Given the description of an element on the screen output the (x, y) to click on. 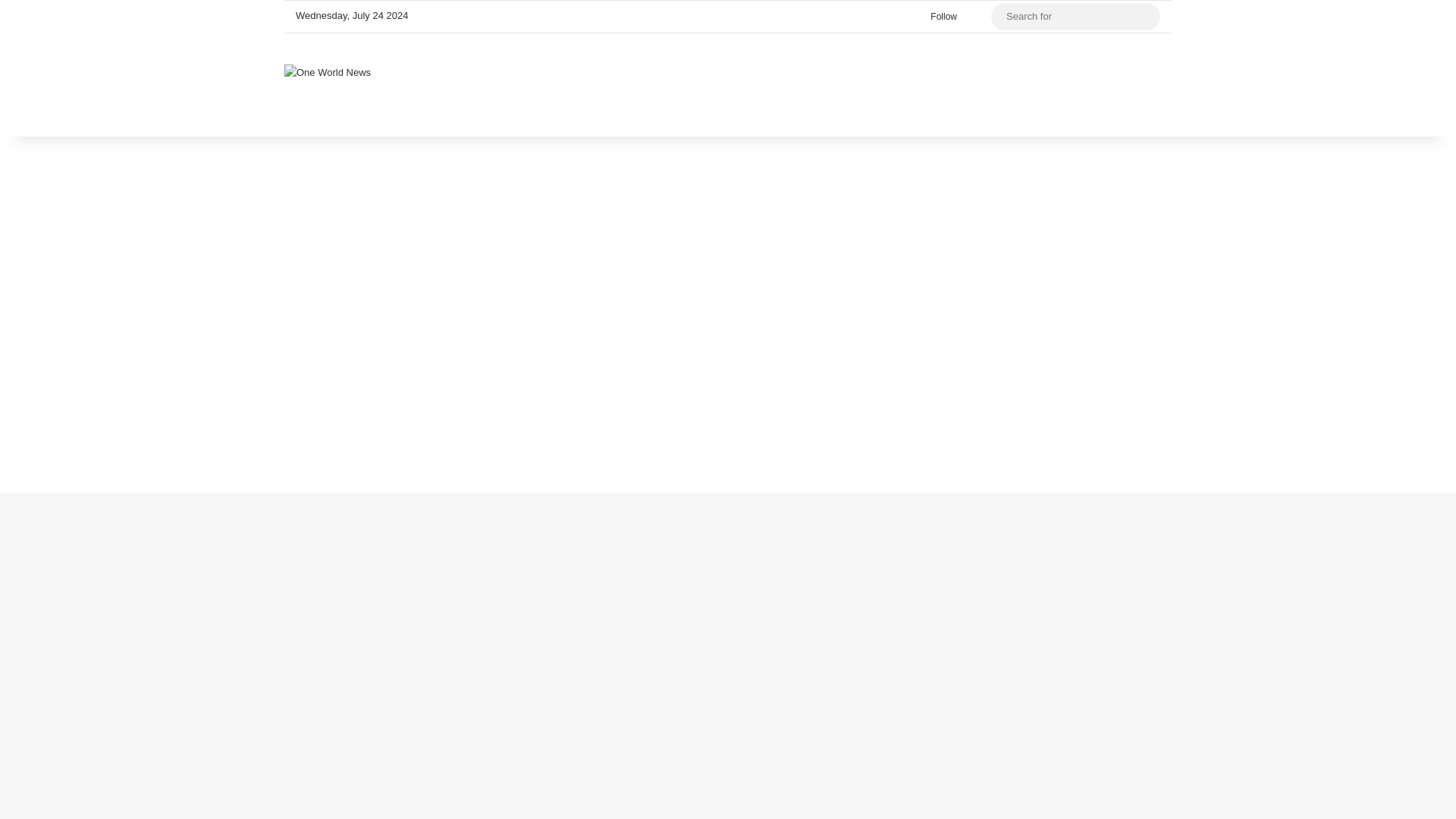
Follow (941, 16)
One World News (327, 71)
Search for (1075, 16)
Search for (1144, 16)
